Given the description of an element on the screen output the (x, y) to click on. 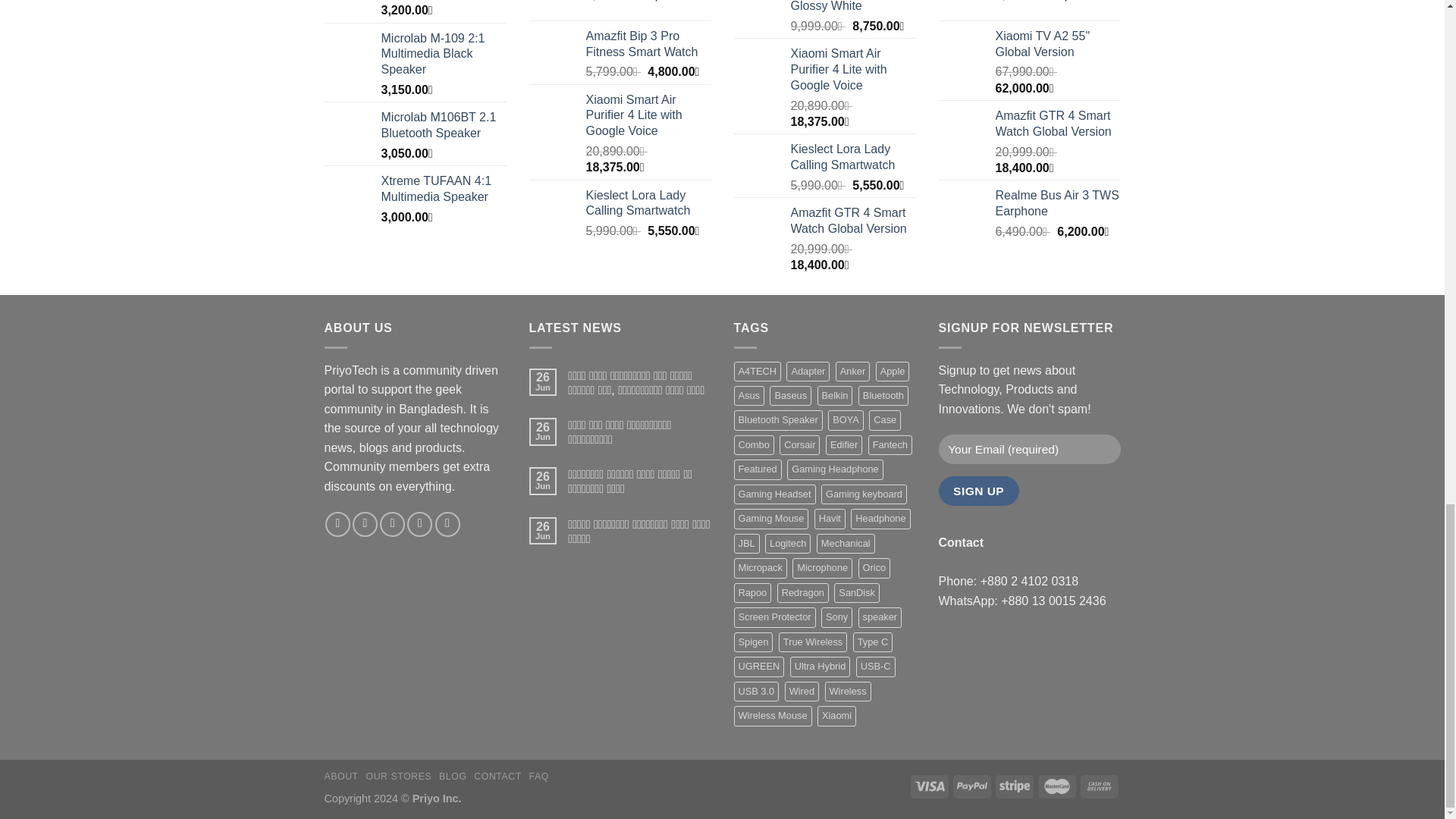
Sign Up (979, 490)
